Given the description of an element on the screen output the (x, y) to click on. 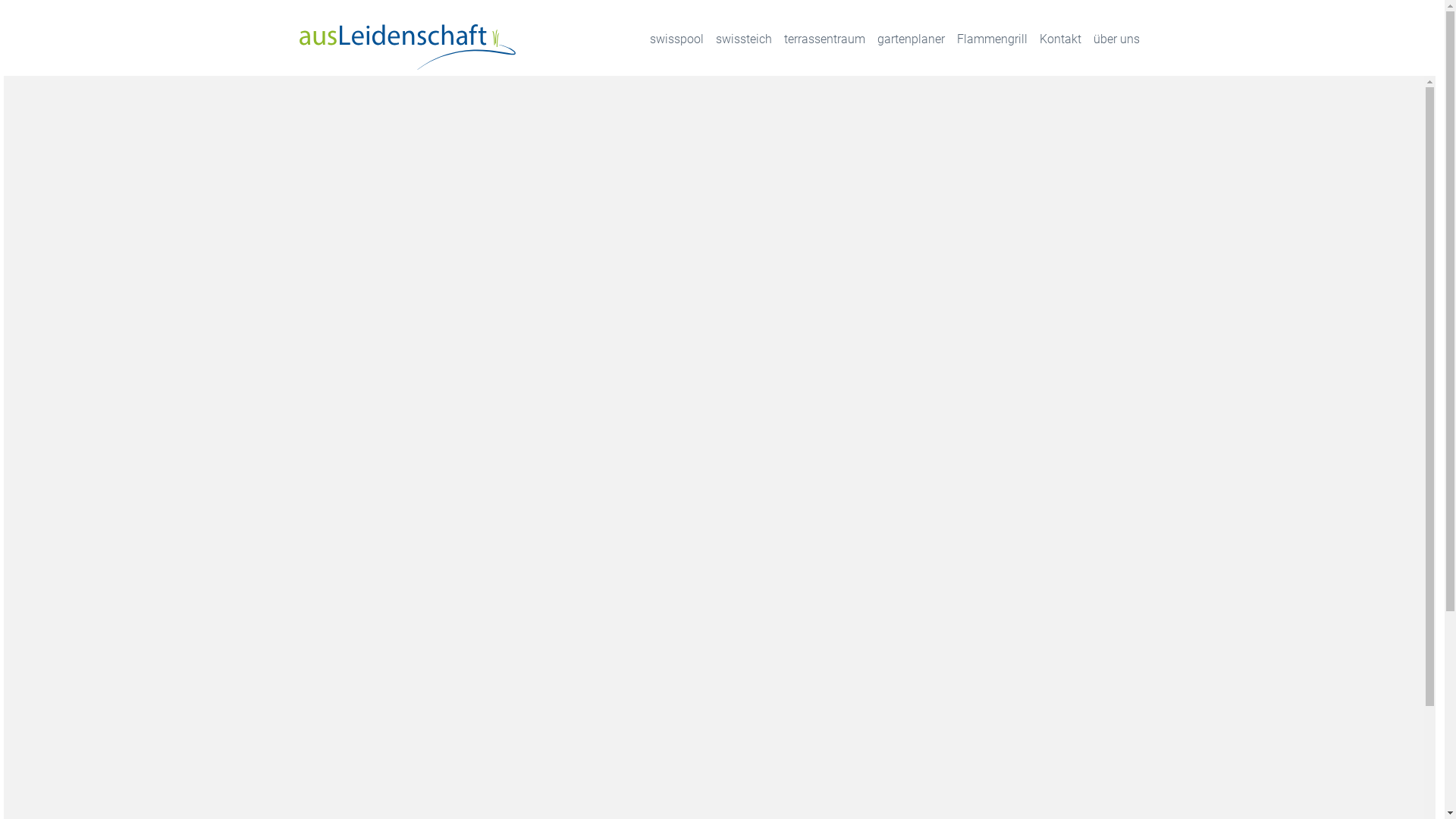
Flammengrill Element type: text (991, 39)
swisspool Element type: text (676, 39)
Kontakt Element type: text (1059, 39)
terrassentraum Element type: text (824, 39)
swissteich Element type: text (743, 39)
gartenplaner Element type: text (910, 39)
